Given the description of an element on the screen output the (x, y) to click on. 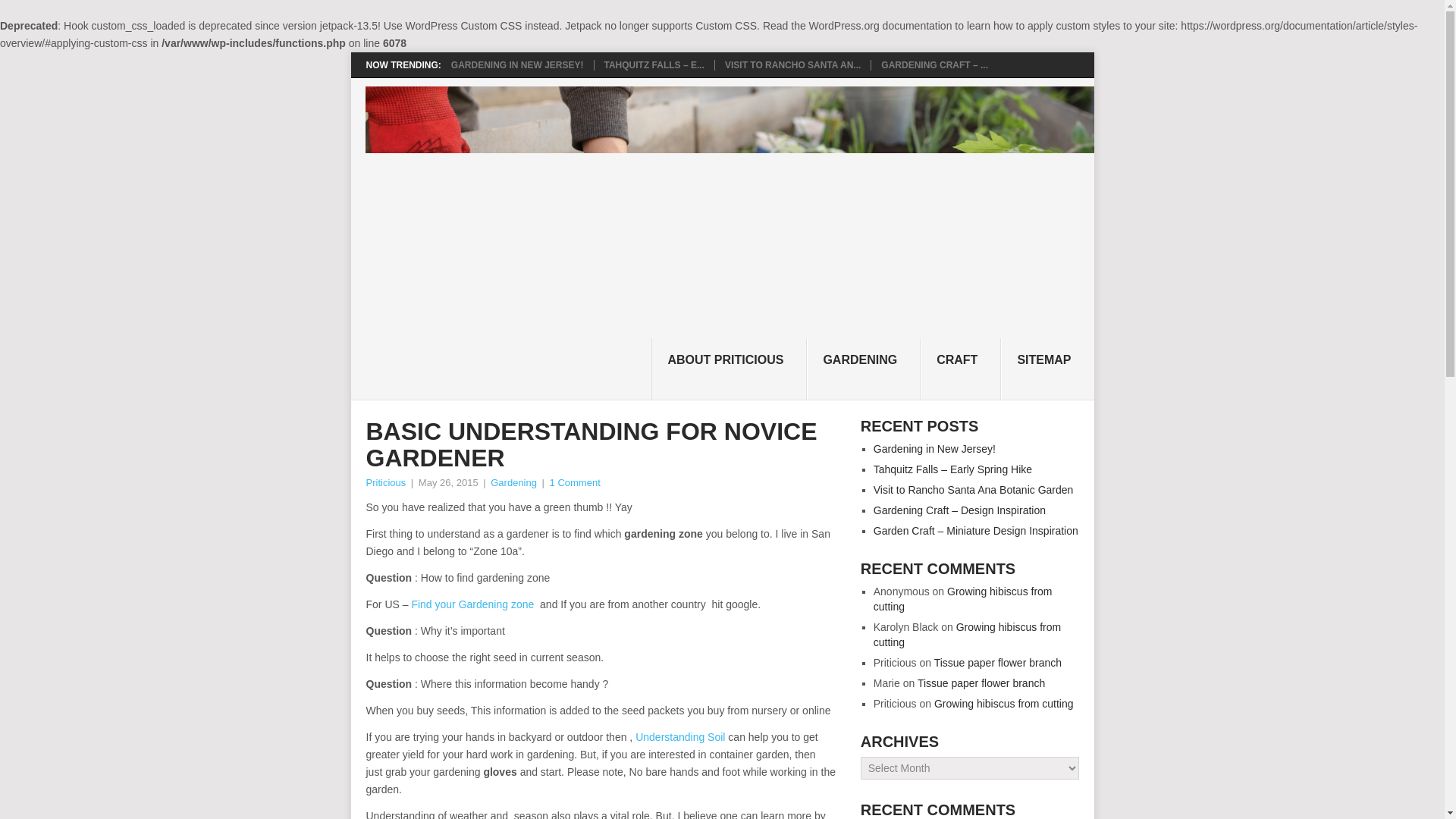
Understanding Soil (679, 736)
1 Comment (574, 482)
Posts by Priticious (385, 482)
VISIT TO RANCHO SANTA AN... (792, 64)
CRAFT (960, 369)
GARDENING (863, 369)
Priticious (385, 482)
GARDENING IN NEW JERSEY! (517, 64)
Gardening (513, 482)
SITEMAP (1047, 369)
